Given the description of an element on the screen output the (x, y) to click on. 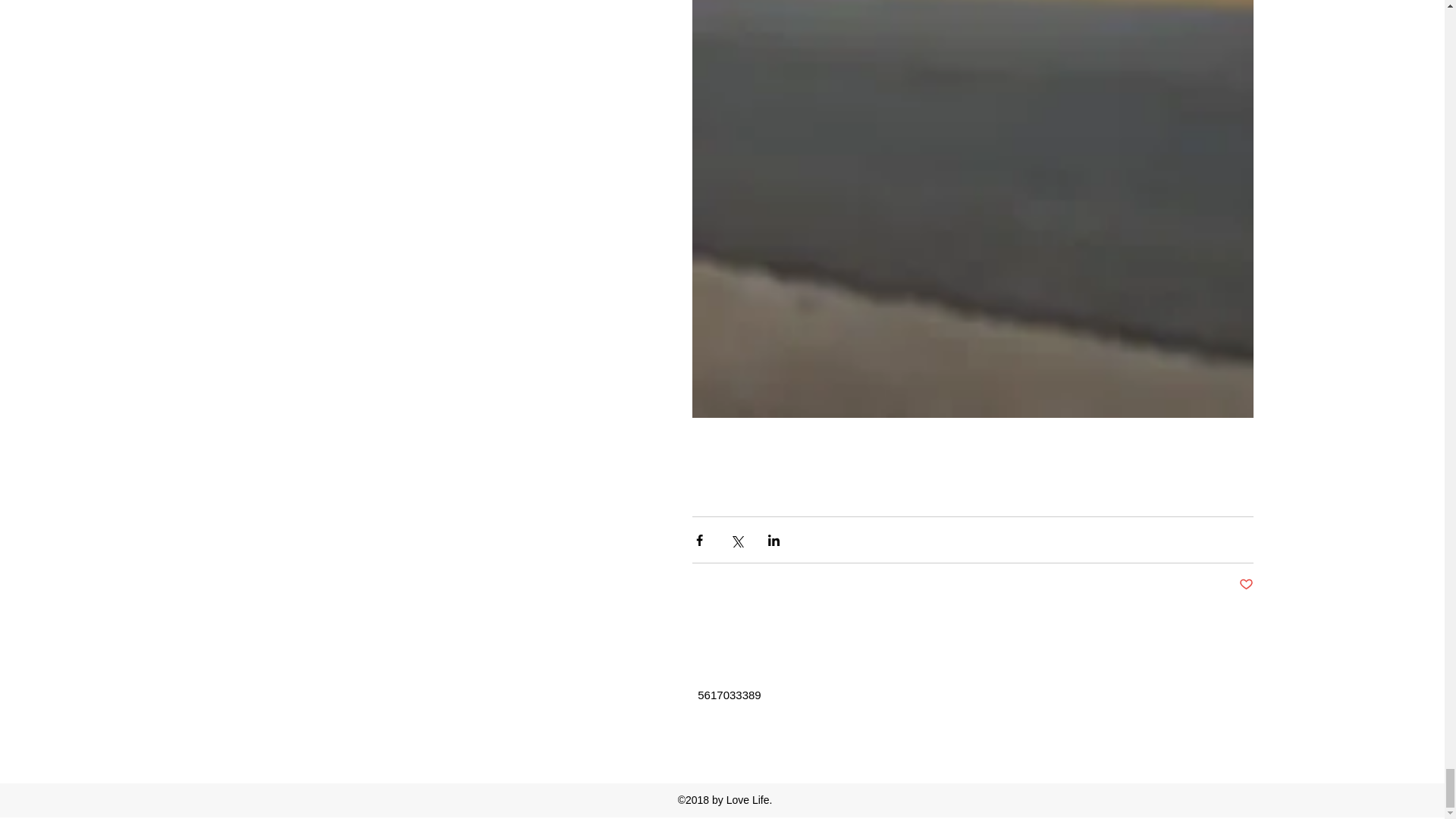
Post not marked as liked (1246, 584)
